Given the description of an element on the screen output the (x, y) to click on. 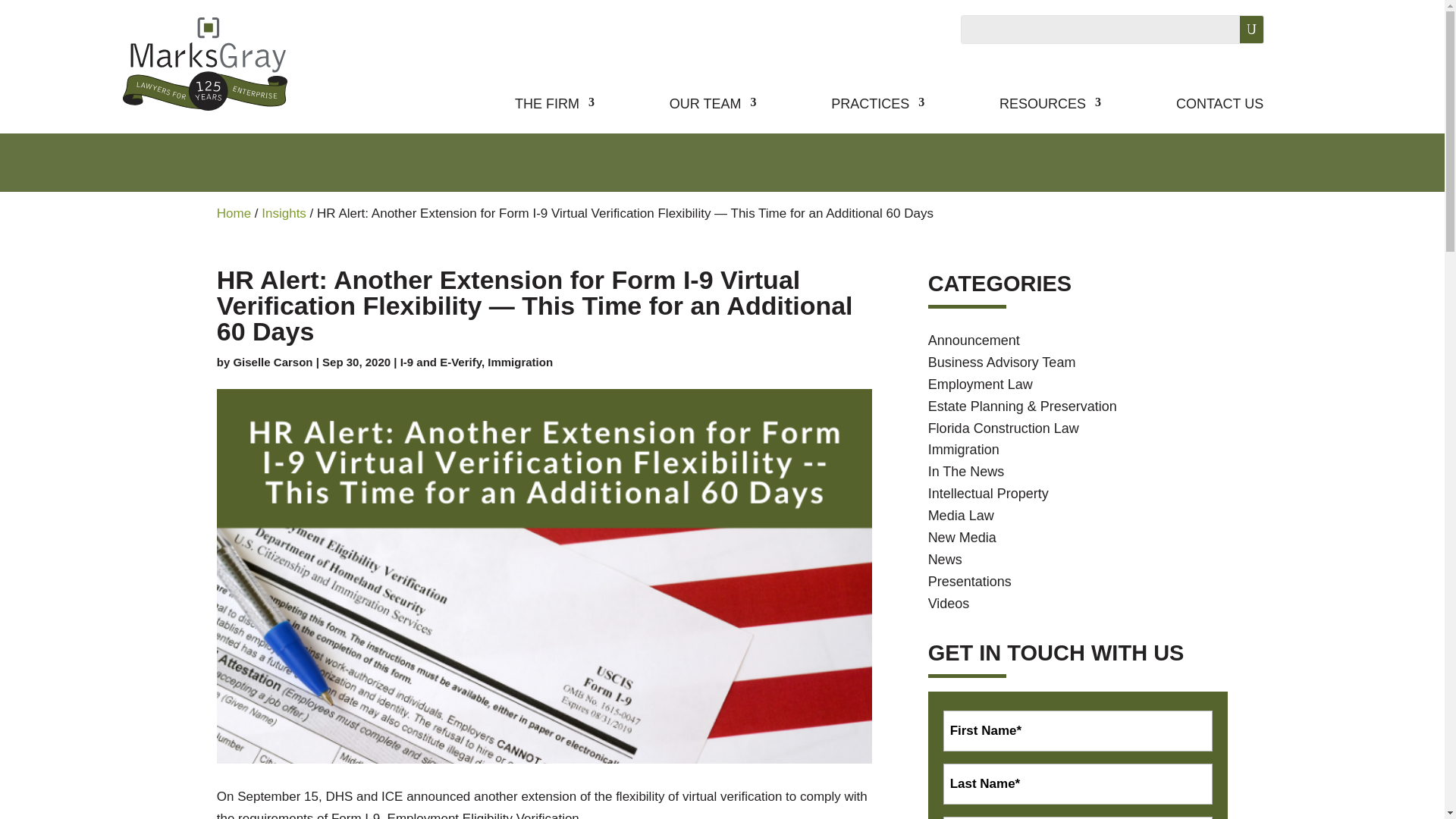
Search (1238, 29)
Search (1238, 29)
Posts by Giselle Carson (272, 361)
